Given the description of an element on the screen output the (x, y) to click on. 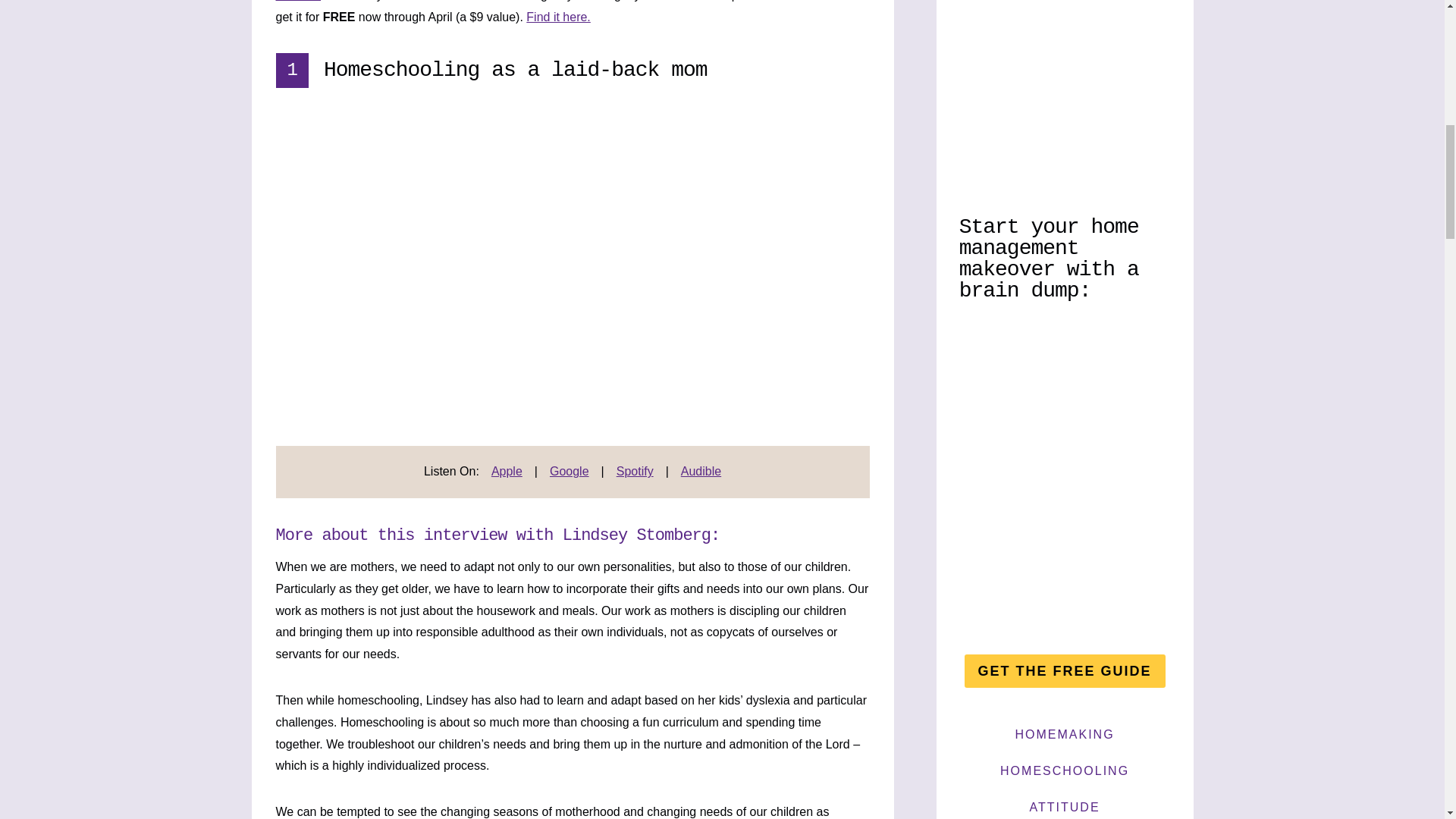
Apple (507, 471)
Audible (700, 471)
Spotify (634, 471)
Find it here. (557, 16)
Google (569, 471)
